Given the description of an element on the screen output the (x, y) to click on. 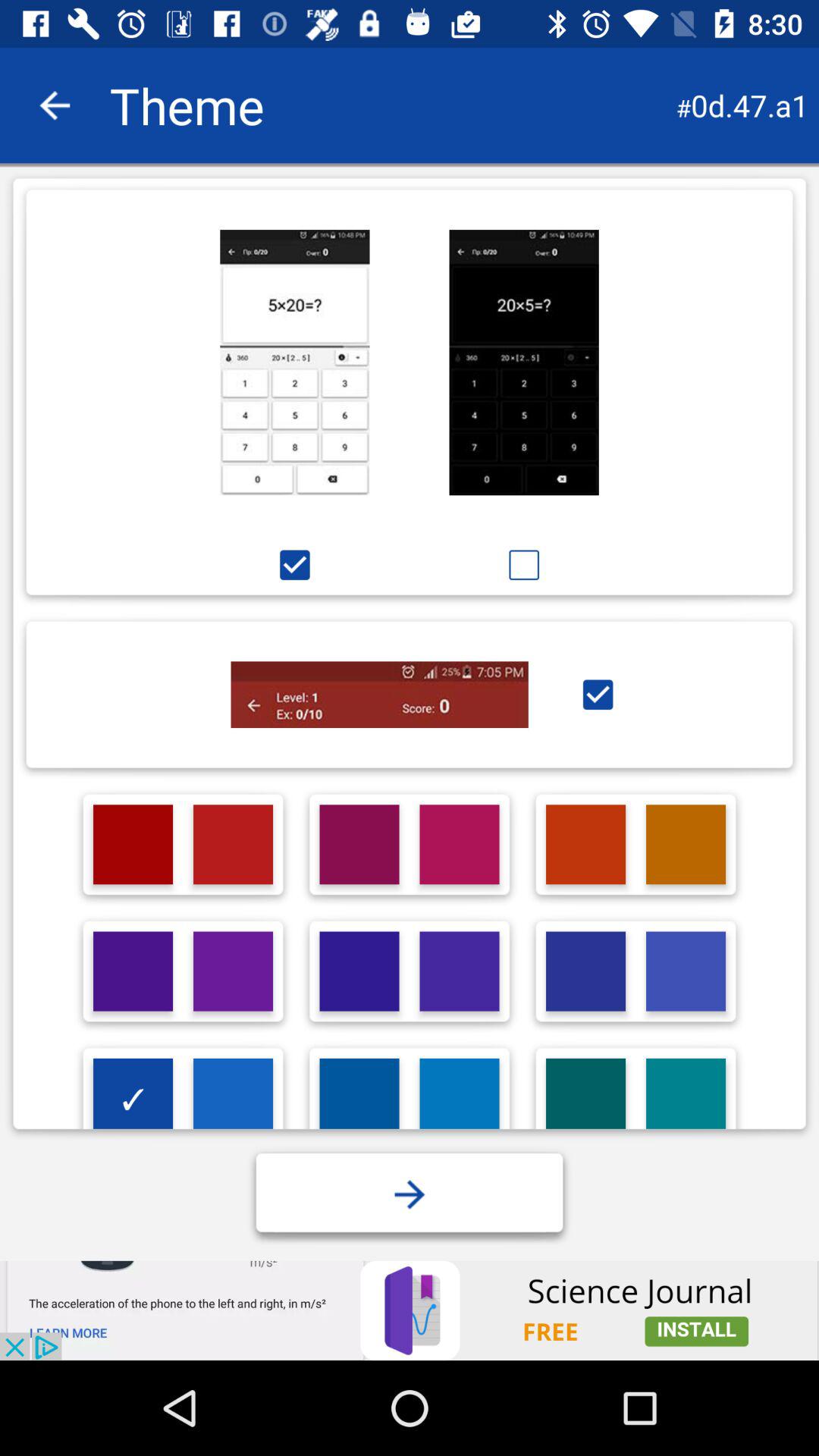
choose a color scheme (359, 1098)
